Given the description of an element on the screen output the (x, y) to click on. 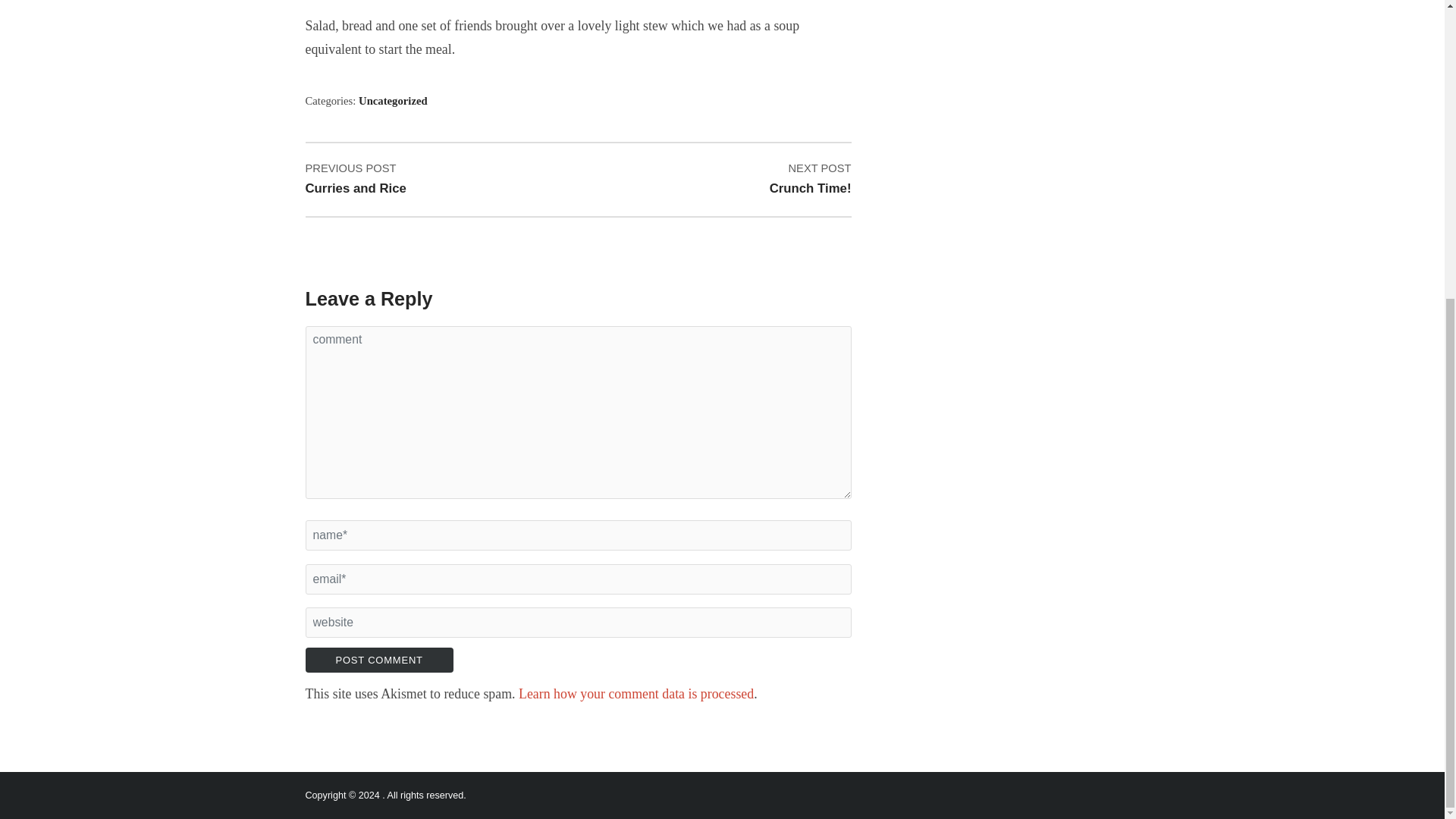
Learn how your comment data is processed (636, 693)
Post Comment (430, 178)
Post Comment (378, 659)
Uncategorized (378, 659)
